Given the description of an element on the screen output the (x, y) to click on. 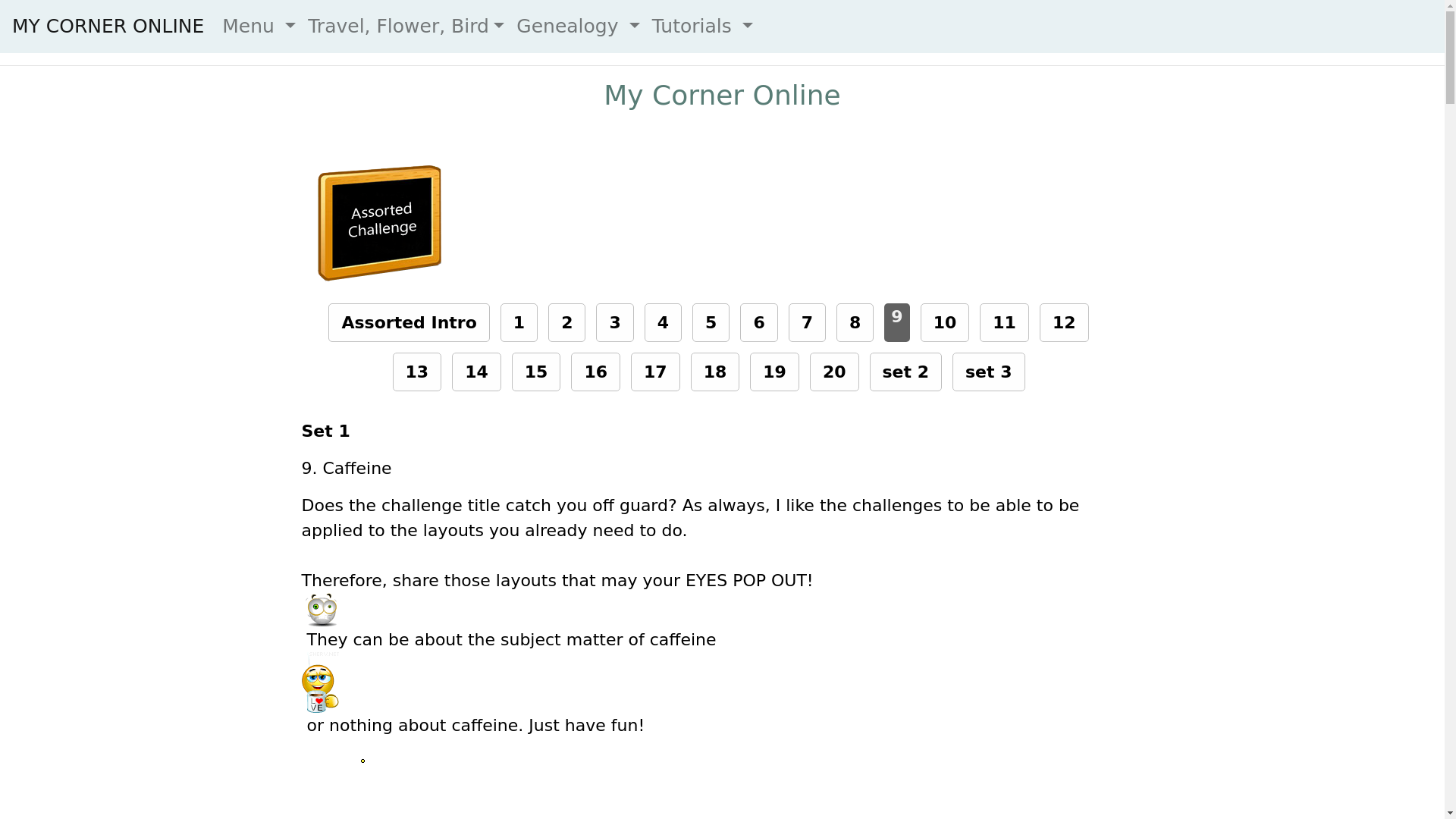
Menu (258, 25)
Genealogy (578, 25)
Tutorials (702, 25)
What? (320, 609)
MY CORNER ONLINE (107, 26)
Travel, Flower, Bird (406, 25)
